Given the description of an element on the screen output the (x, y) to click on. 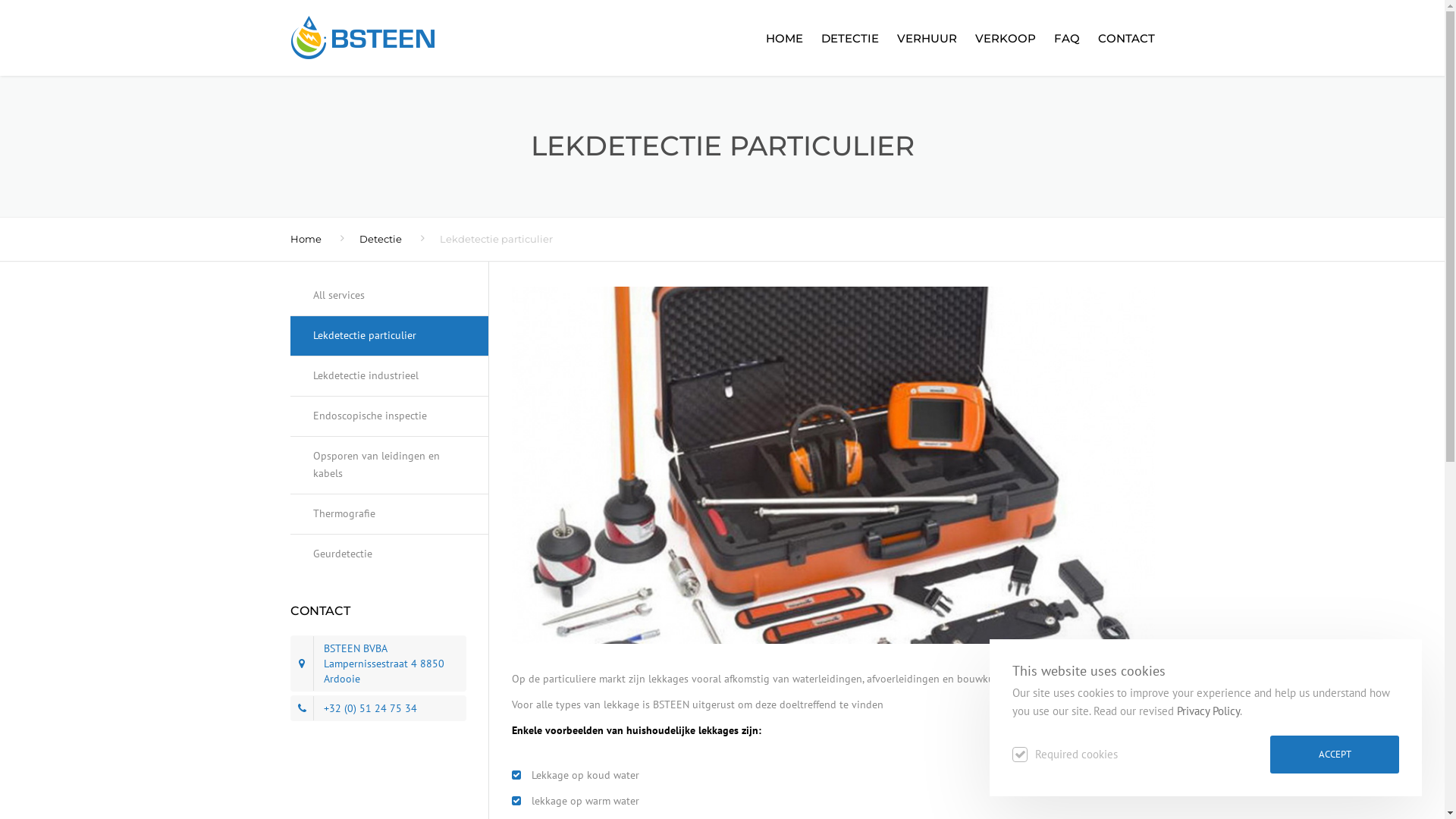
Detectie Element type: text (380, 238)
FAQ Element type: text (1066, 37)
Thermografie Element type: text (389, 514)
Privacy Policy Element type: text (1207, 710)
Geurdetectie Element type: text (389, 554)
All services Element type: text (389, 301)
Opsporen van leidingen en kabels Element type: text (389, 465)
Endoscopische inspectie Element type: text (389, 416)
VERHUUR Element type: text (925, 37)
VERKOOP Element type: text (1005, 37)
ACCEPT Element type: text (1334, 754)
HOME Element type: text (784, 37)
Lekdetectie particulier Element type: text (389, 336)
DETECTIE Element type: text (848, 37)
CONTACT Element type: text (1122, 37)
Lekdetectie industrieel Element type: text (389, 376)
Home Element type: text (304, 238)
